Given the description of an element on the screen output the (x, y) to click on. 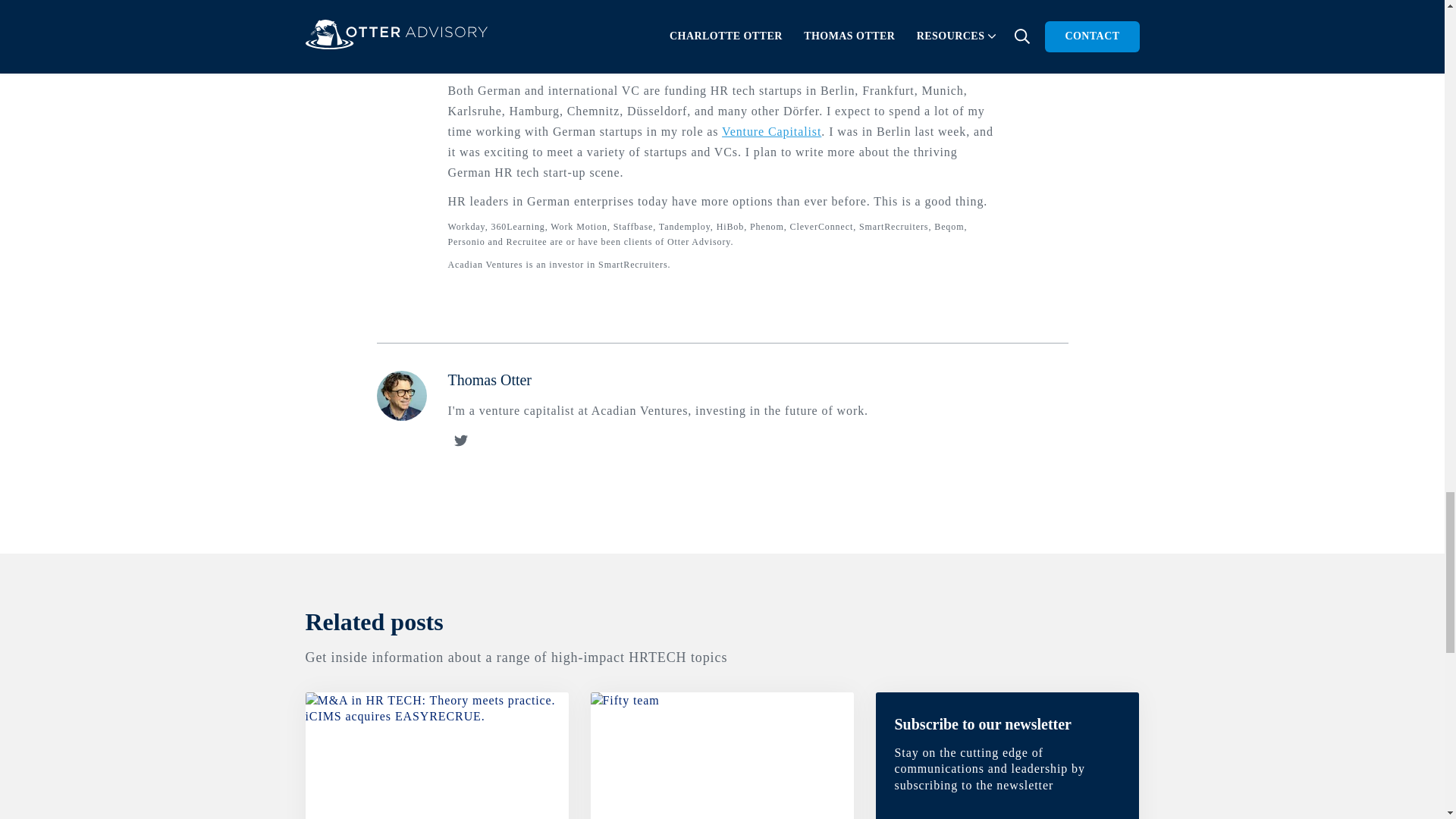
Lattice (798, 41)
360Learning (540, 20)
HiBob (686, 41)
Quinyx (731, 41)
Venture Capitalist (771, 131)
